Given the description of an element on the screen output the (x, y) to click on. 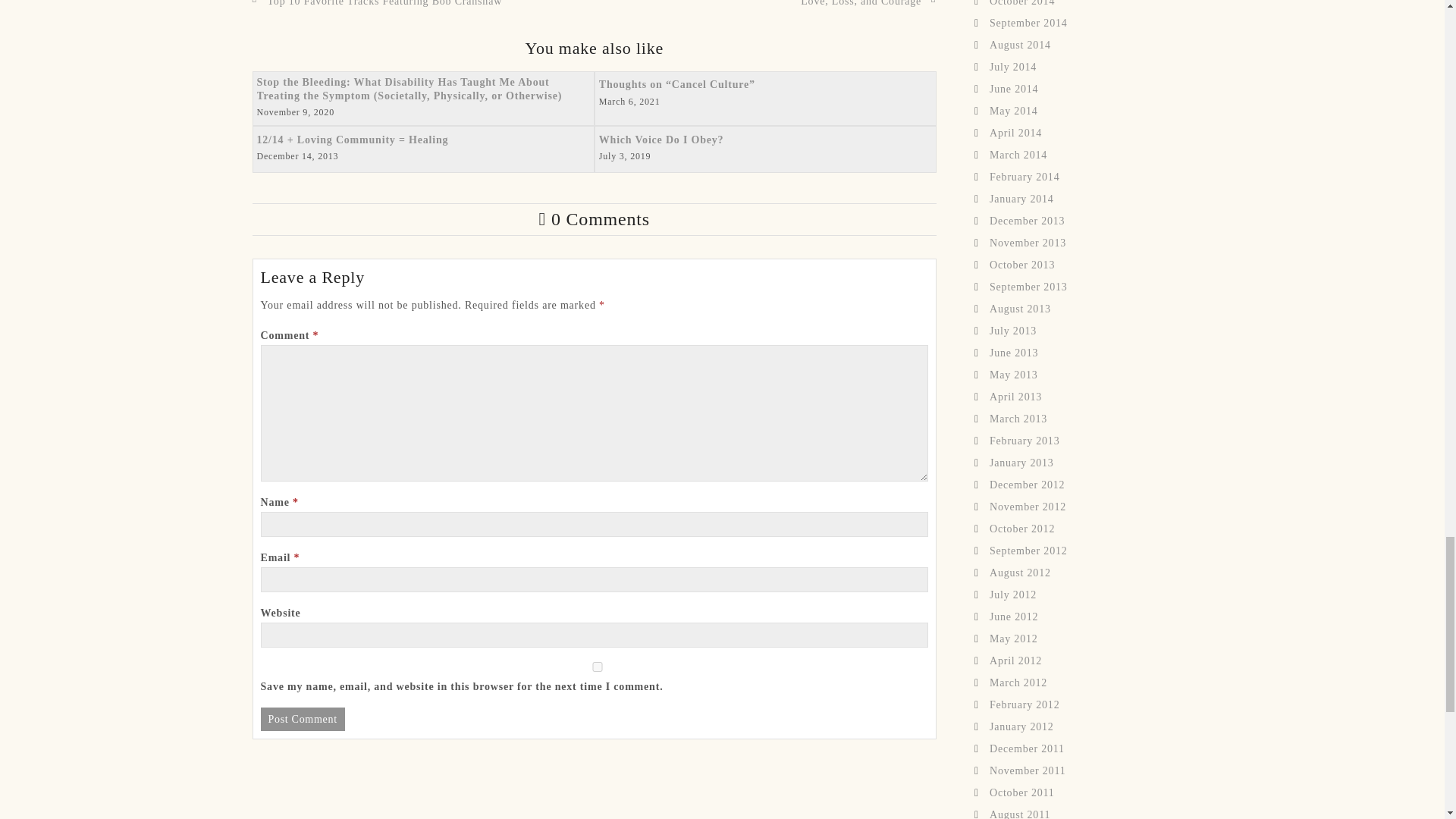
yes (597, 666)
Post Comment (302, 719)
